Given the description of an element on the screen output the (x, y) to click on. 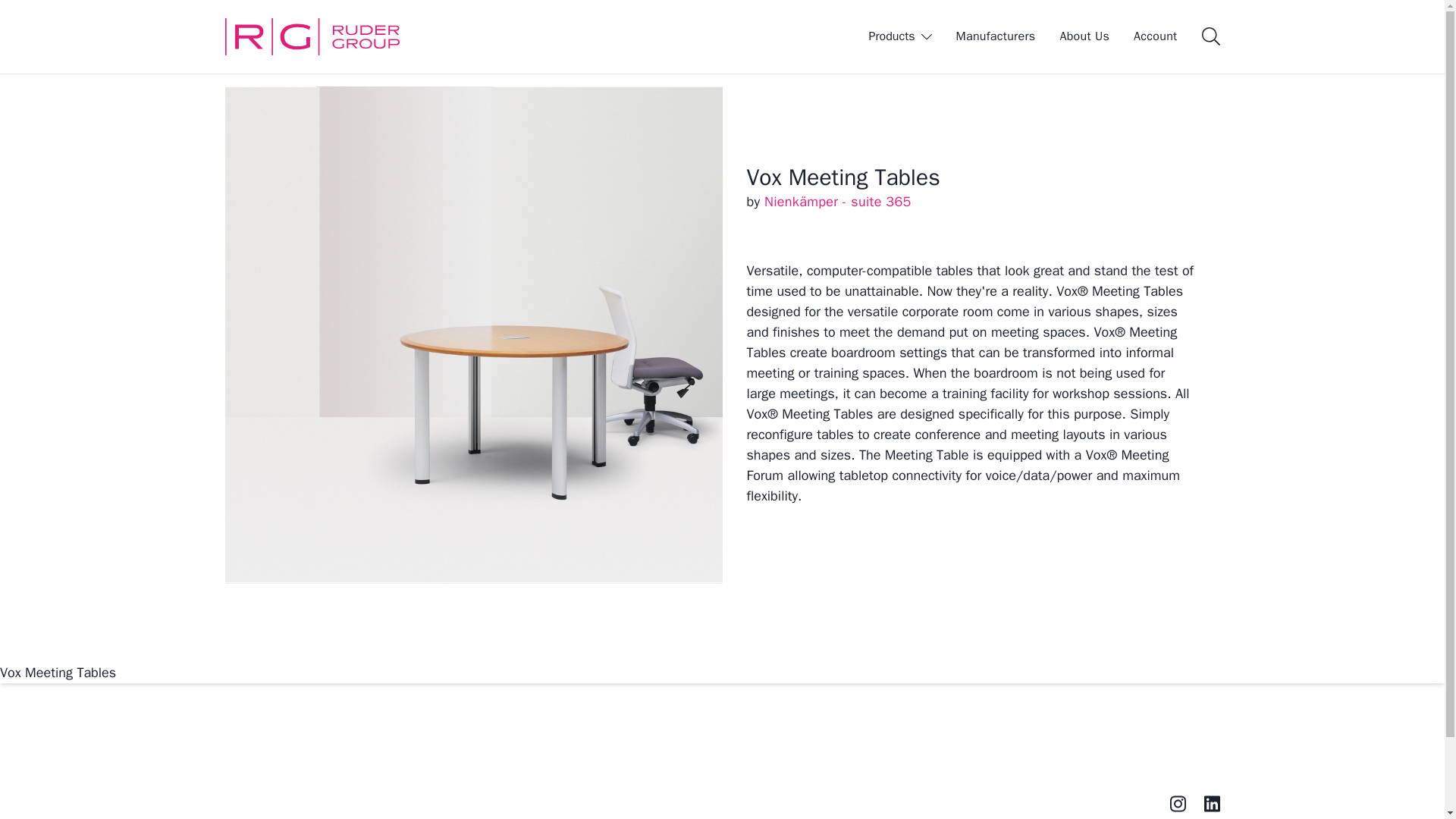
Products (900, 36)
